Given the description of an element on the screen output the (x, y) to click on. 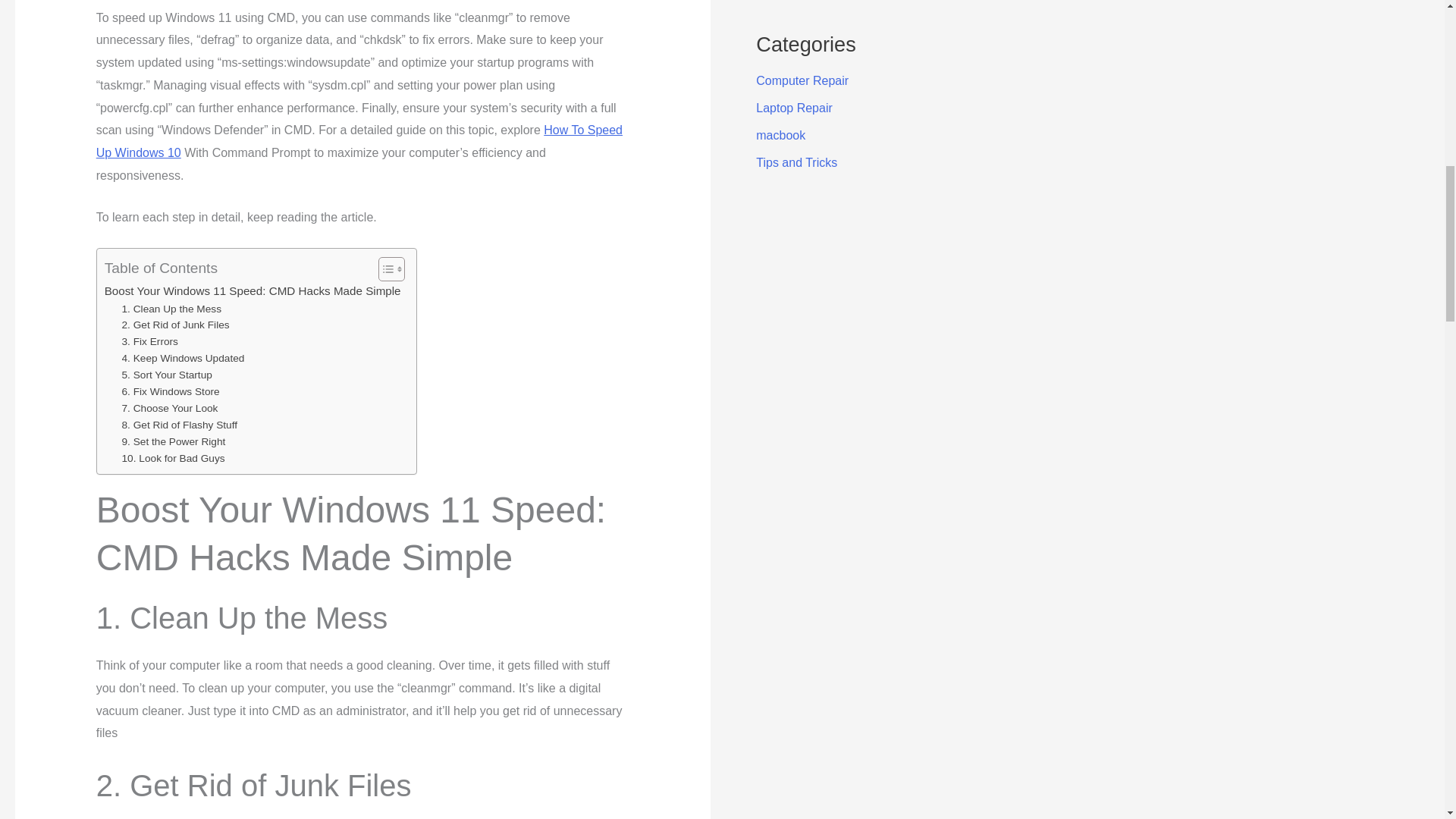
8. Get Rid of Flashy Stuff (180, 425)
5. Sort Your Startup (167, 375)
9. Set the Power Right (173, 442)
4. Keep Windows Updated (183, 358)
Boost Your Windows 11 Speed: CMD Hacks Made Simple (252, 290)
3. Fix Errors (149, 341)
6. Fix Windows Store (170, 392)
2. Get Rid of Junk Files (176, 324)
10. Look for Bad Guys (173, 458)
1. Clean Up the Mess (171, 309)
